Given the description of an element on the screen output the (x, y) to click on. 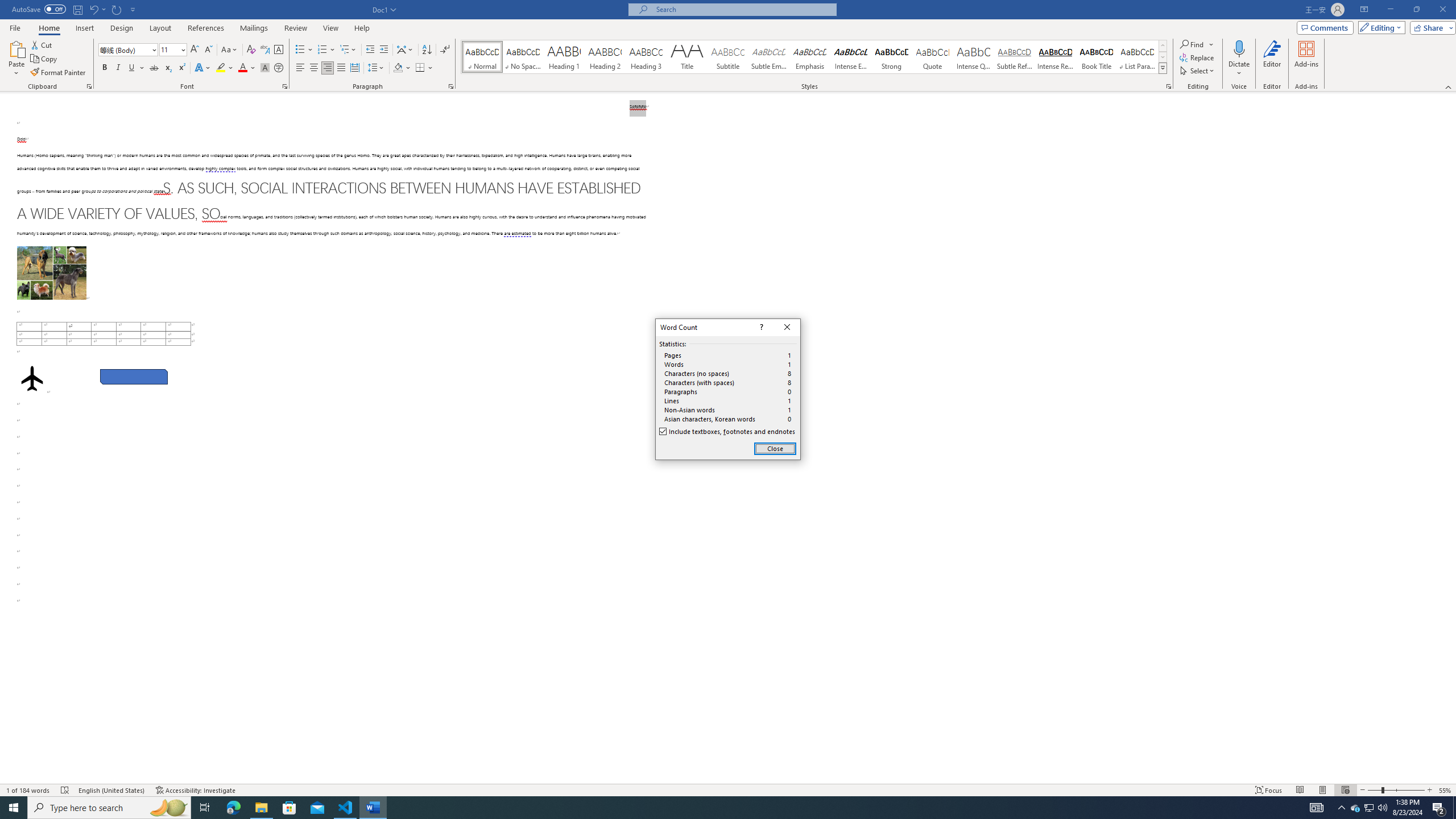
Intense Reference (1055, 56)
Word Count 1 of 184 words (28, 790)
Font Color Red (241, 67)
Heading 3 (646, 56)
Book Title (1095, 56)
